Given the description of an element on the screen output the (x, y) to click on. 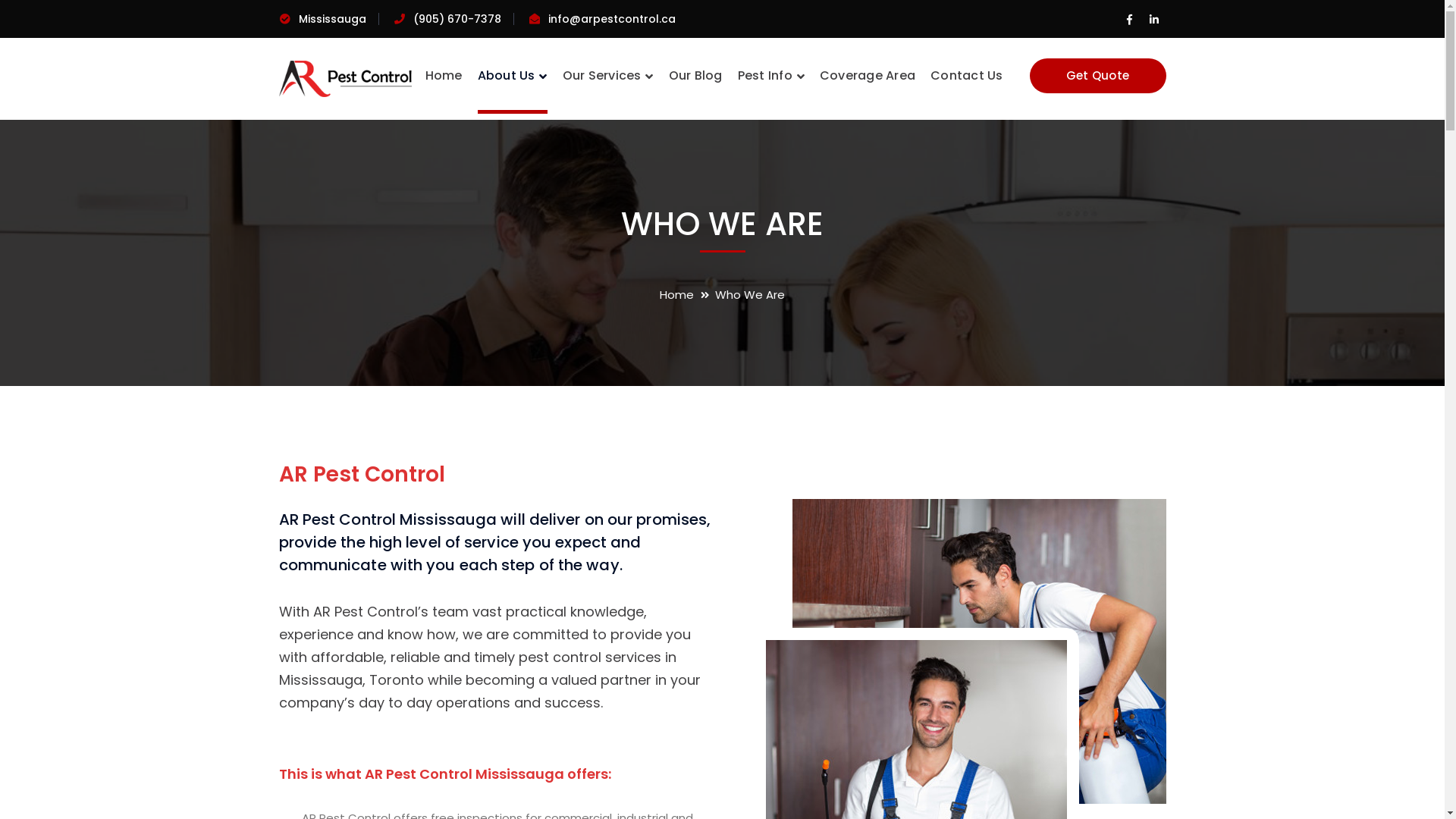
LinkedIn Profile Element type: text (1154, 19)
Get Quote Element type: text (1097, 75)
Home Element type: text (687, 294)
Contact Us Element type: text (966, 75)
AR Pest Control Element type: hover (345, 77)
About Us Element type: text (512, 75)
Our Services Element type: text (607, 75)
Coverage Area Element type: text (867, 75)
Facebook Profile Element type: text (1129, 19)
Our Blog Element type: text (695, 75)
Home Element type: text (442, 75)
Pest Info Element type: text (770, 75)
